Given the description of an element on the screen output the (x, y) to click on. 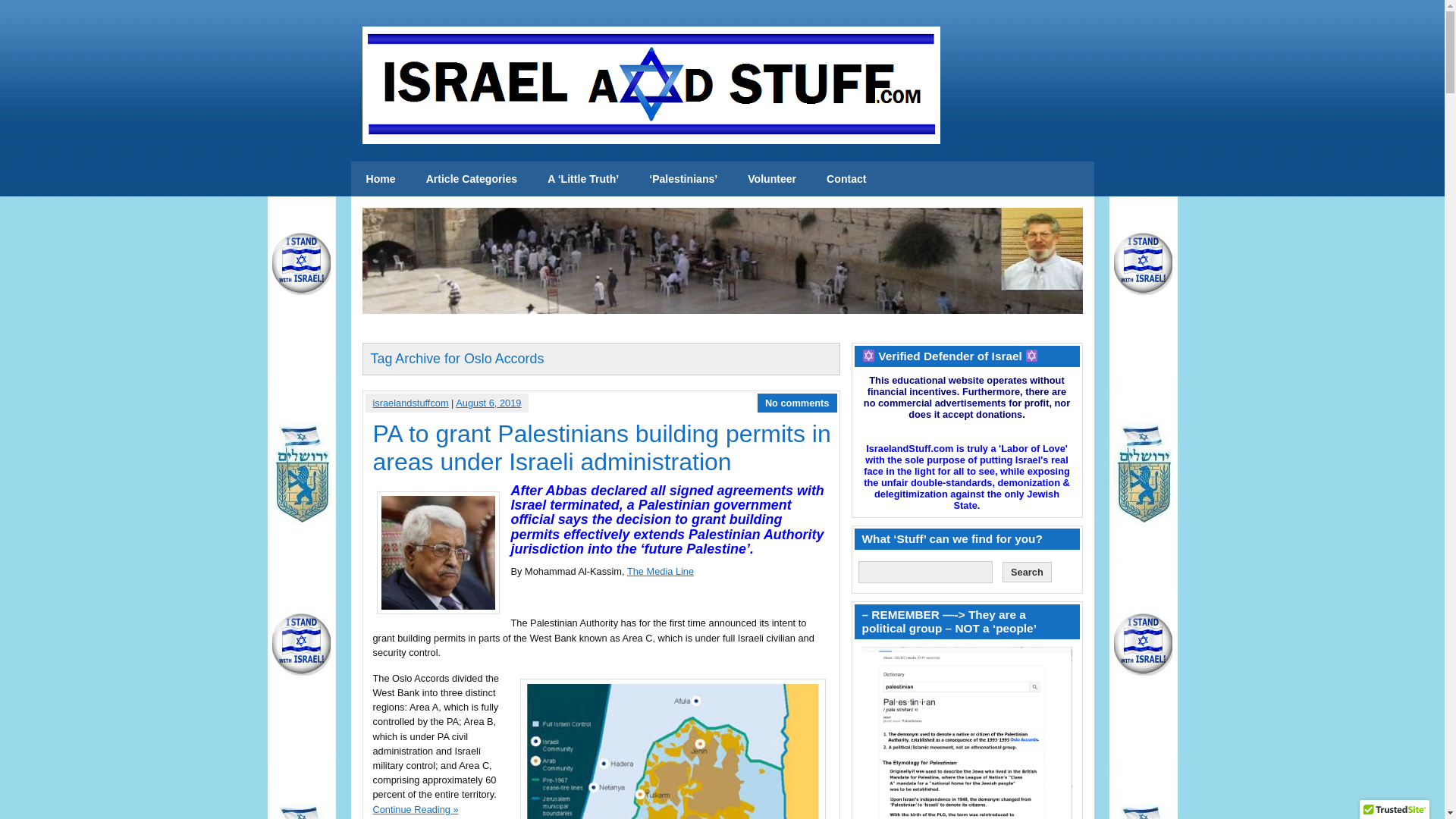
israelandstuffcom (410, 402)
Article Categories (471, 178)
Search (1027, 571)
Volunteer (771, 178)
Contact (845, 178)
Home (380, 178)
news (380, 178)
Posts by israelandstuffcom (410, 402)
The Media Line (660, 571)
August 6, 2019 (488, 402)
No comments (797, 402)
